Given the description of an element on the screen output the (x, y) to click on. 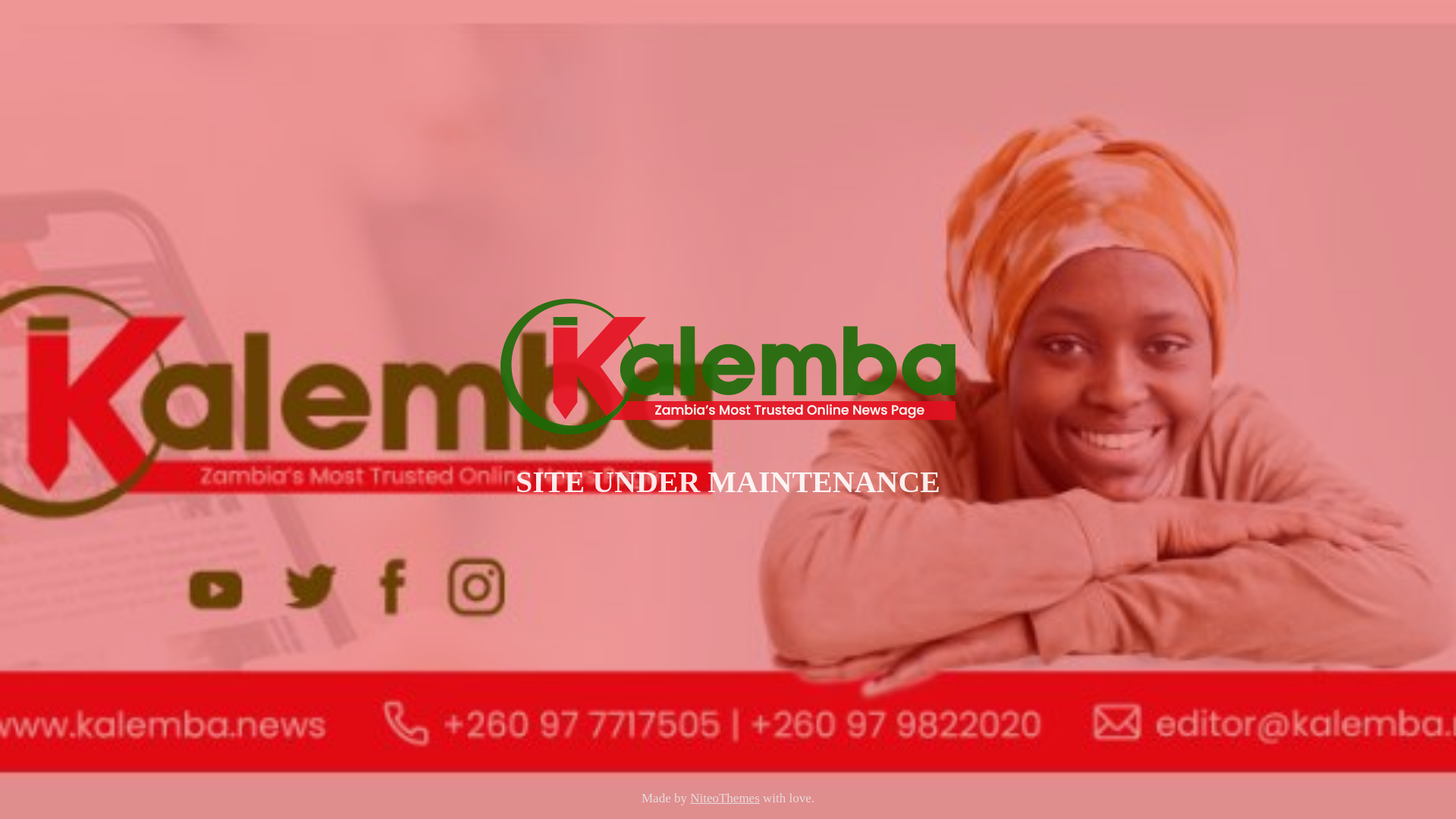
NiteoThemes (725, 798)
